Given the description of an element on the screen output the (x, y) to click on. 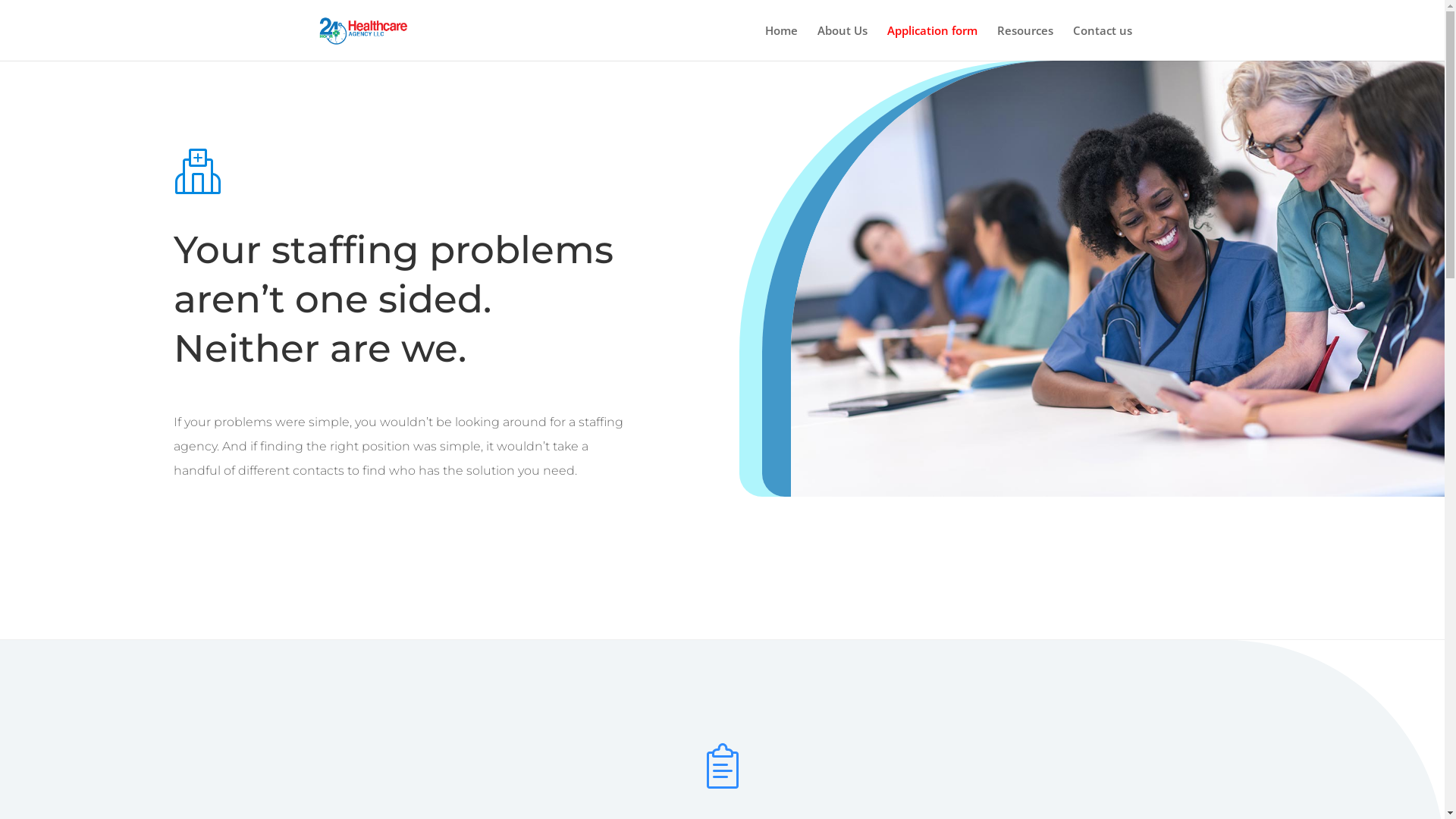
About Us Element type: text (842, 42)
contact-form Element type: hover (1117, 278)
Home Element type: text (780, 42)
Application form Element type: text (932, 42)
health-icon-11-3 Element type: hover (721, 765)
Contact us Element type: text (1101, 42)
Resources Element type: text (1024, 42)
